Given the description of an element on the screen output the (x, y) to click on. 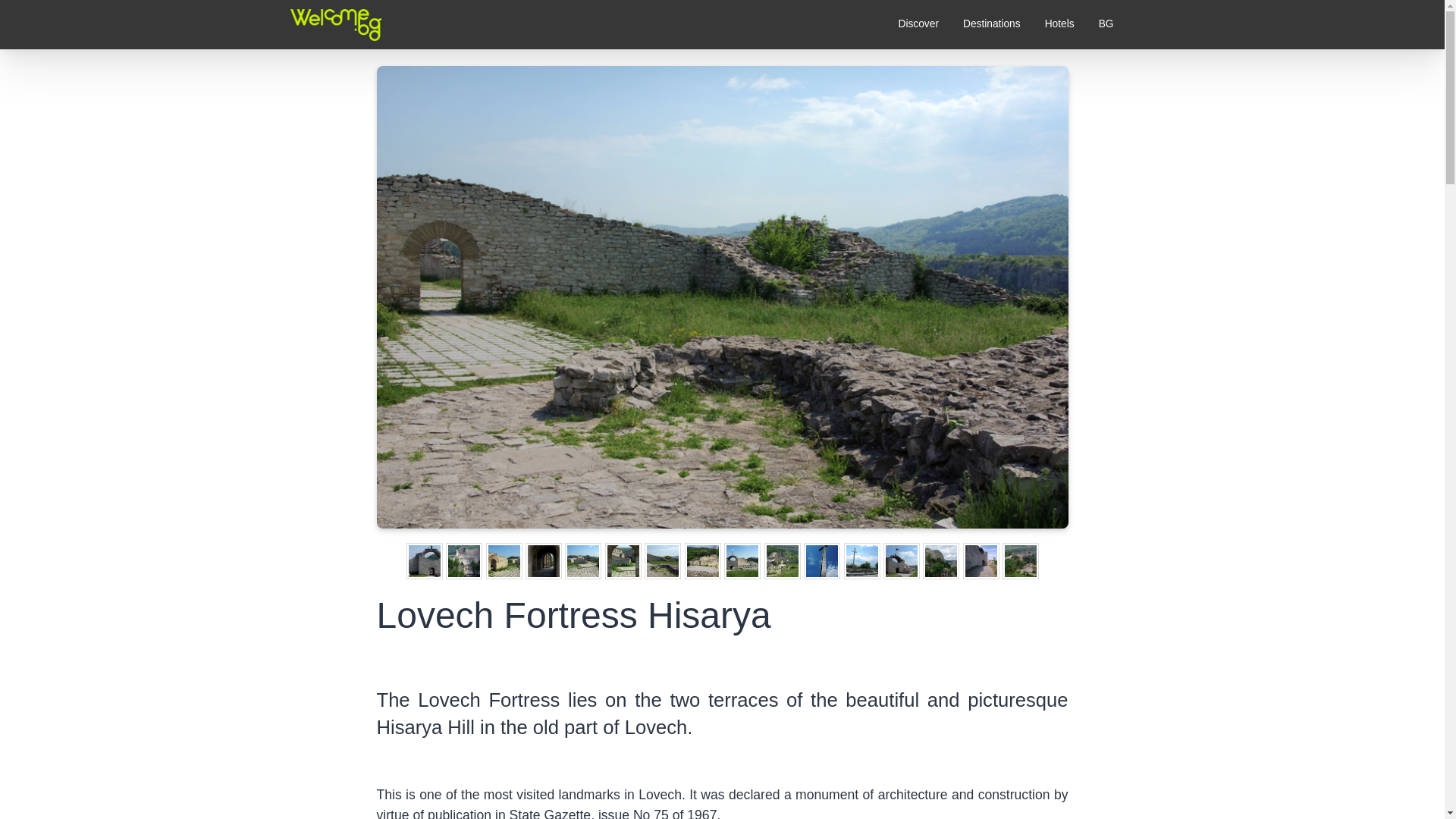
Destinations (991, 24)
Discover (917, 24)
WELCOME.BG (330, 66)
Hotels (1058, 24)
